Given the description of an element on the screen output the (x, y) to click on. 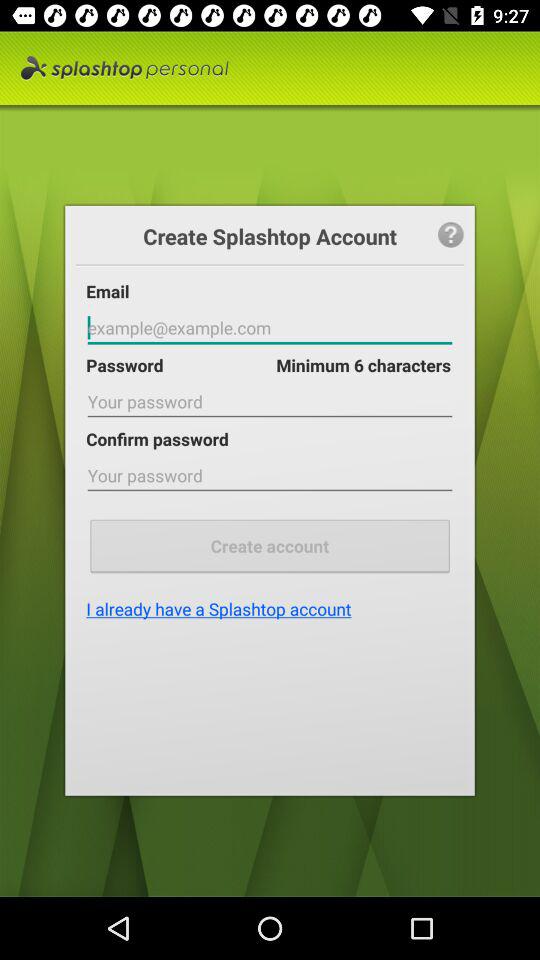
password text (269, 475)
